Given the description of an element on the screen output the (x, y) to click on. 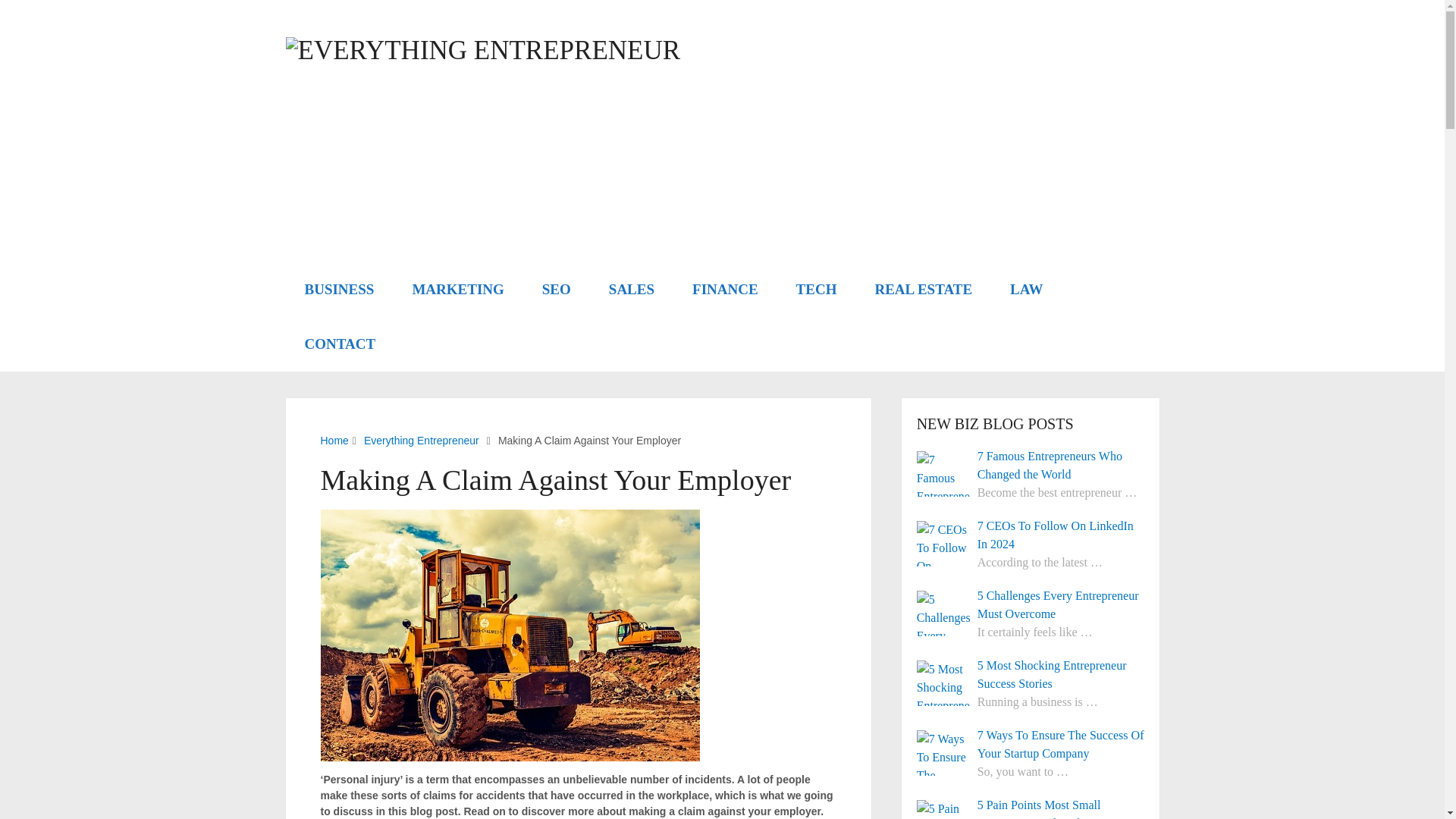
5 Pain Points Most Small Businesses Deal With (1030, 807)
REAL ESTATE (923, 289)
7 Famous Entrepreneurs Who Changed the World (943, 473)
7 Famous Entrepreneurs Who Changed the World (1030, 465)
FINANCE (724, 289)
Everything Entrepreneur (421, 440)
TECH (816, 289)
MARKETING (457, 289)
SALES (630, 289)
7 CEOs To Follow On LinkedIn In 2024 (1030, 534)
